Given the description of an element on the screen output the (x, y) to click on. 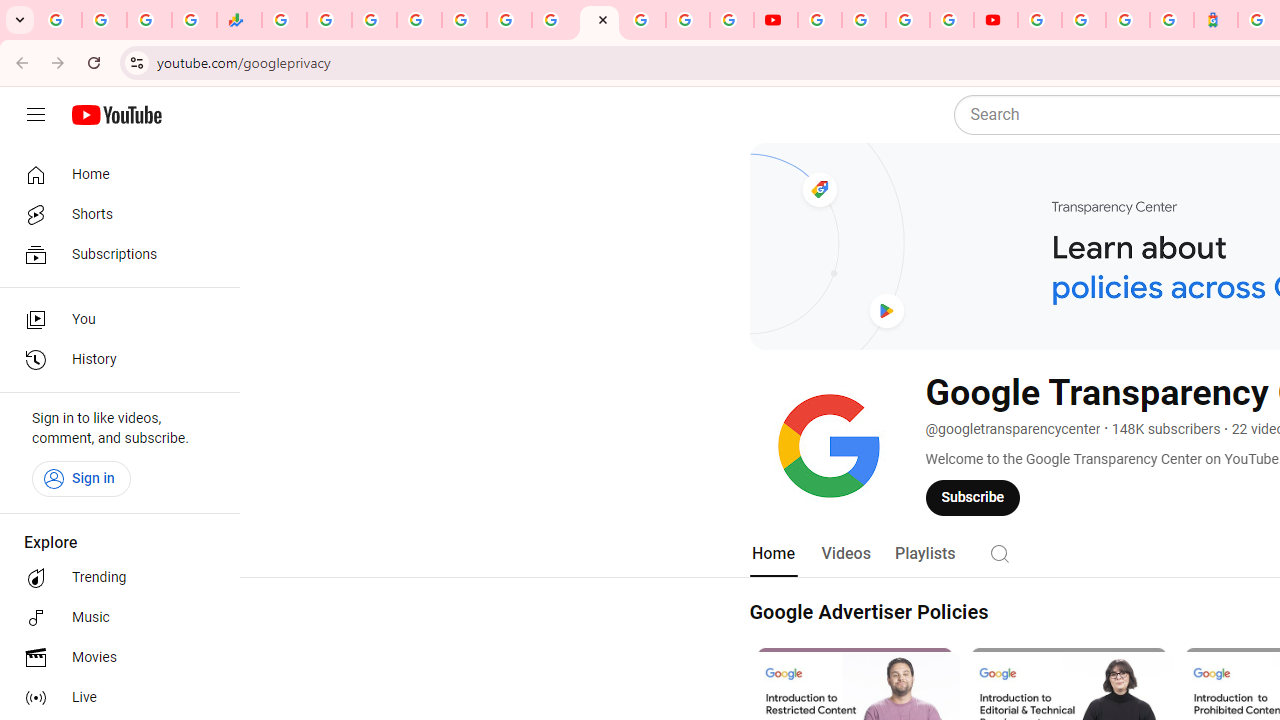
Movies (113, 657)
Atour Hotel - Google hotels (1215, 20)
Subscribe (973, 497)
Music (113, 617)
Trending (113, 578)
Videos (845, 553)
Sign in - Google Accounts (1083, 20)
Android TV Policies and Guidelines - Transparency Center (554, 20)
Google Workspace Admin Community (59, 20)
Home (772, 553)
Sign in - Google Accounts (418, 20)
YouTube (775, 20)
